Given the description of an element on the screen output the (x, y) to click on. 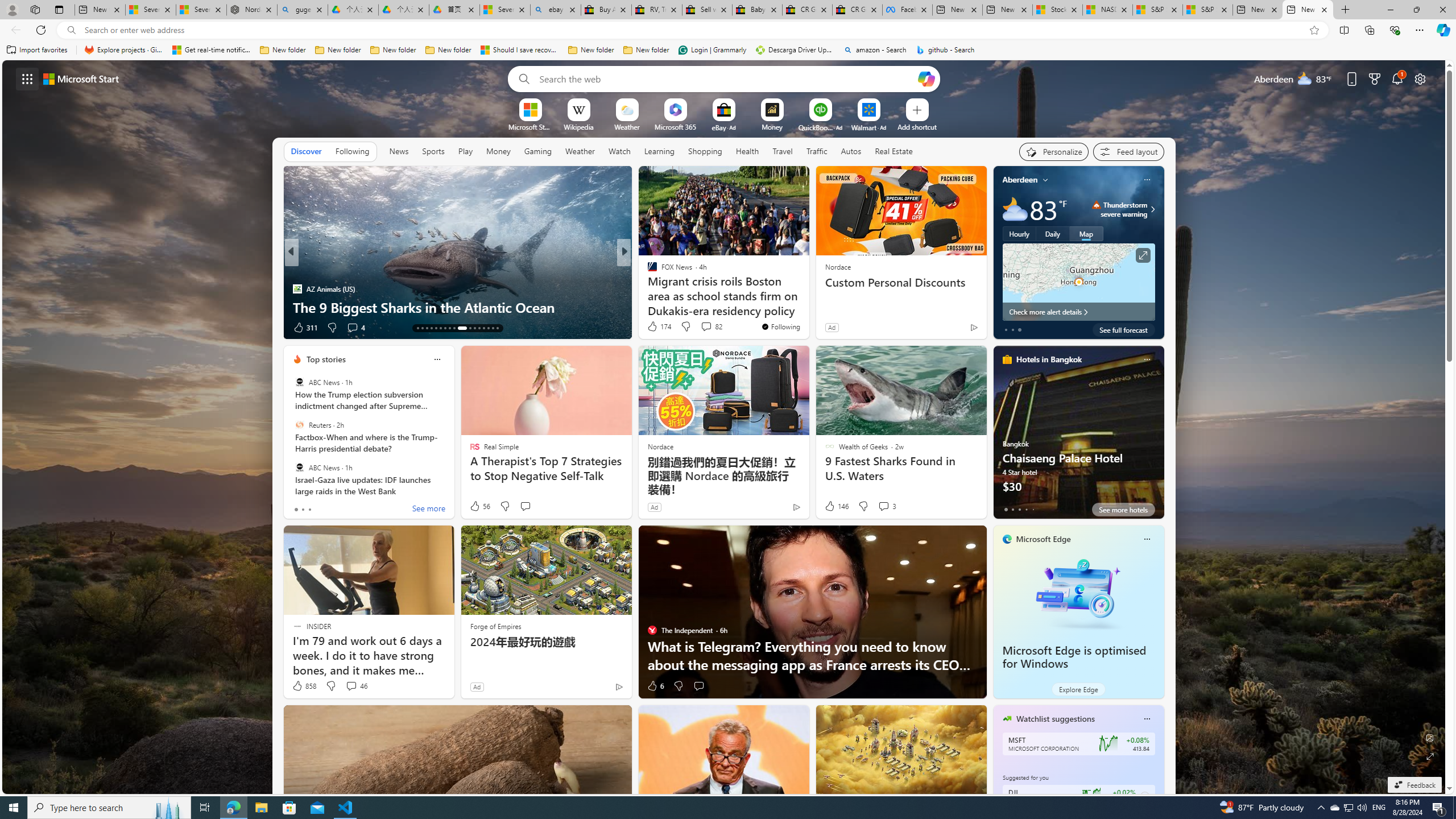
App bar (728, 29)
AutomationID: tab-15 (426, 328)
Dislike (678, 685)
Traffic (816, 151)
Edit Background (1430, 737)
Reuters (299, 424)
22 Like (652, 327)
23 Like (652, 327)
Click to see more information (1142, 255)
AutomationID: waffle (27, 78)
AutomationID: tab-25 (478, 328)
